Given the description of an element on the screen output the (x, y) to click on. 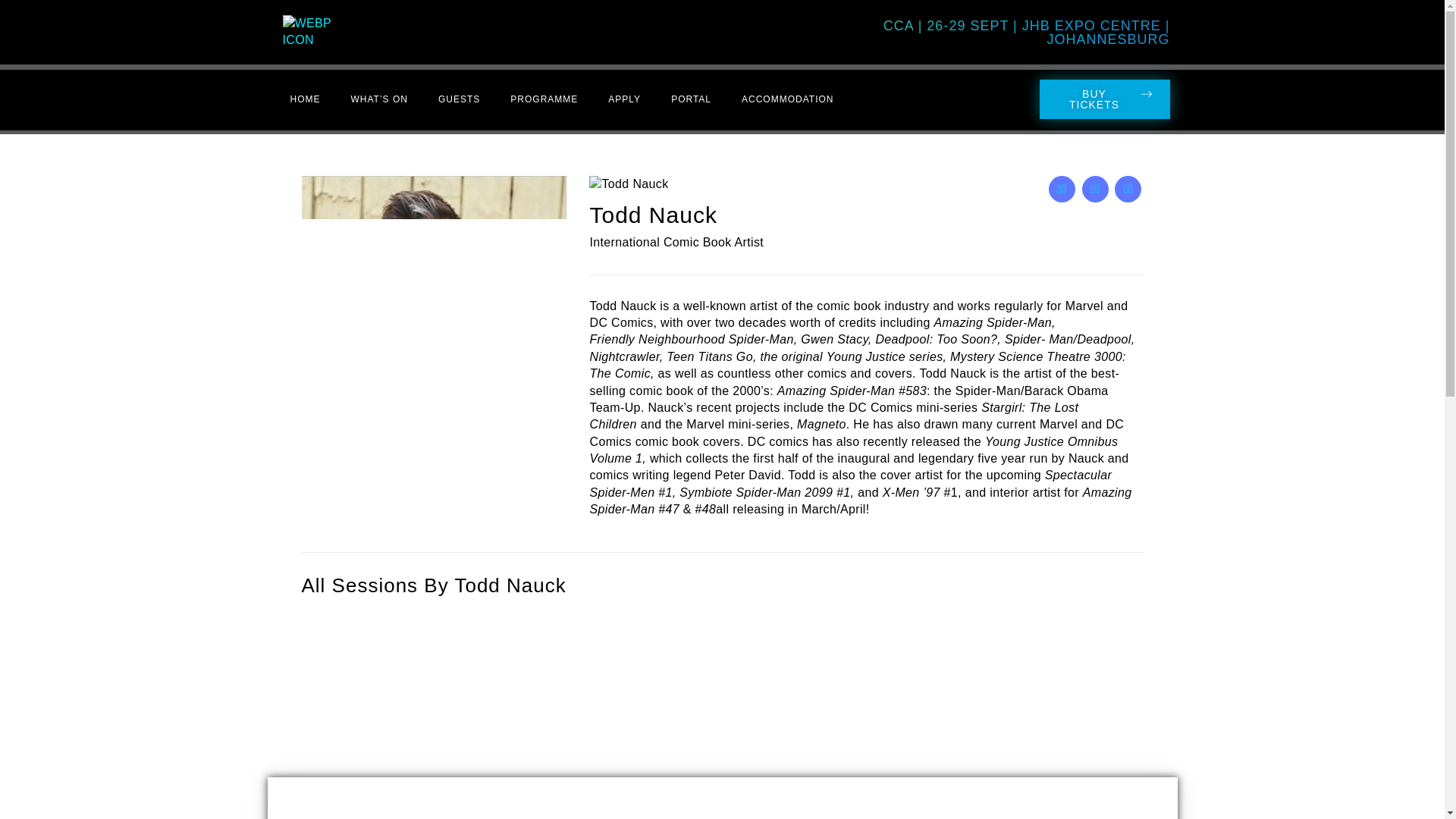
PORTAL (691, 99)
PROGRAMME (543, 99)
Arrow-Icon-Size3 (1145, 93)
ACCOMMODATION (787, 99)
WEBP ICON (323, 32)
APPLY (624, 99)
HOME (304, 99)
GUESTS (459, 99)
